Given the description of an element on the screen output the (x, y) to click on. 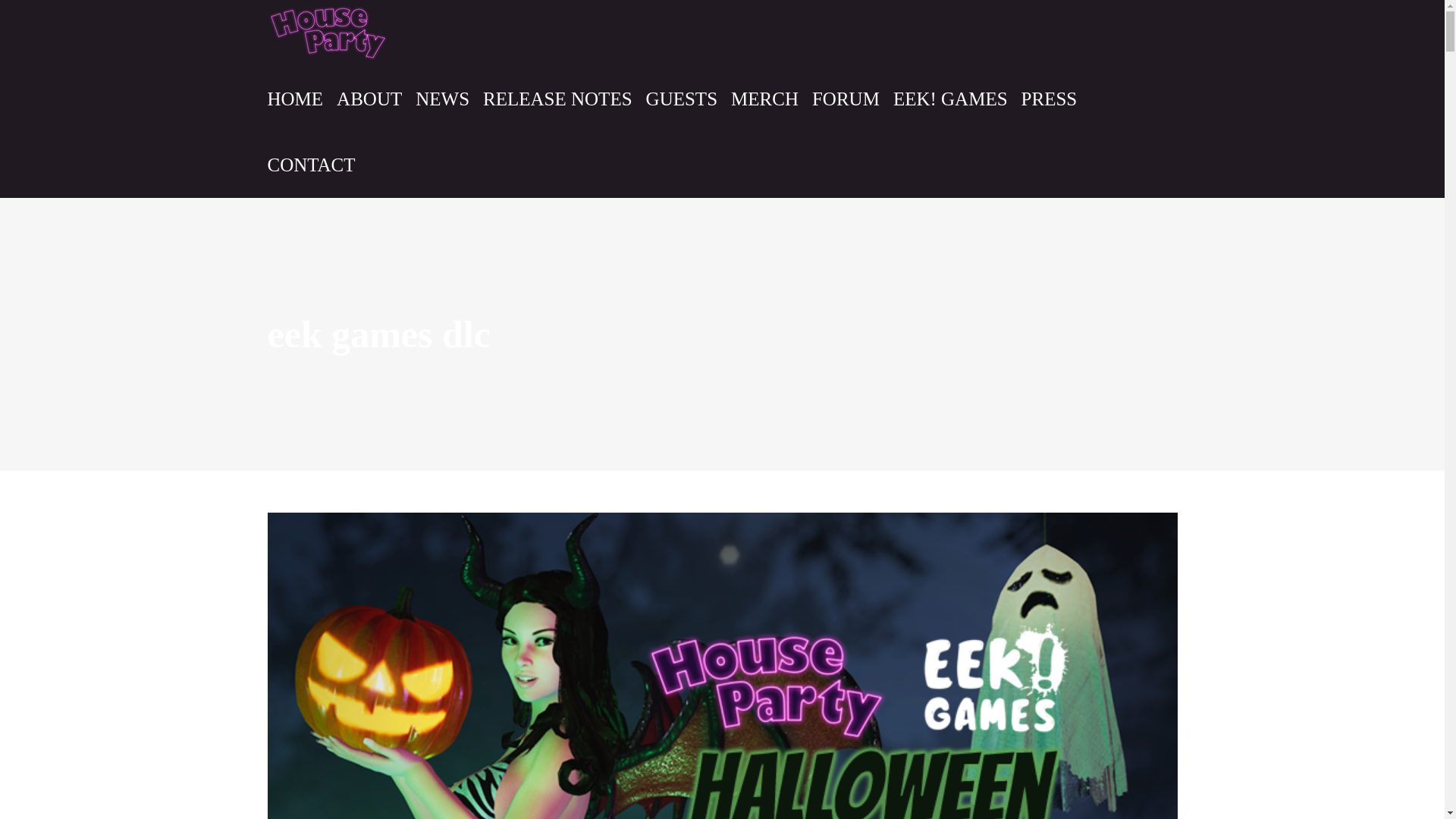
FORUM (845, 98)
MERCH (763, 98)
GUESTS (681, 98)
EEK! GAMES (950, 98)
CONTACT (310, 164)
RELEASE NOTES (557, 98)
ABOUT (368, 98)
